Given the description of an element on the screen output the (x, y) to click on. 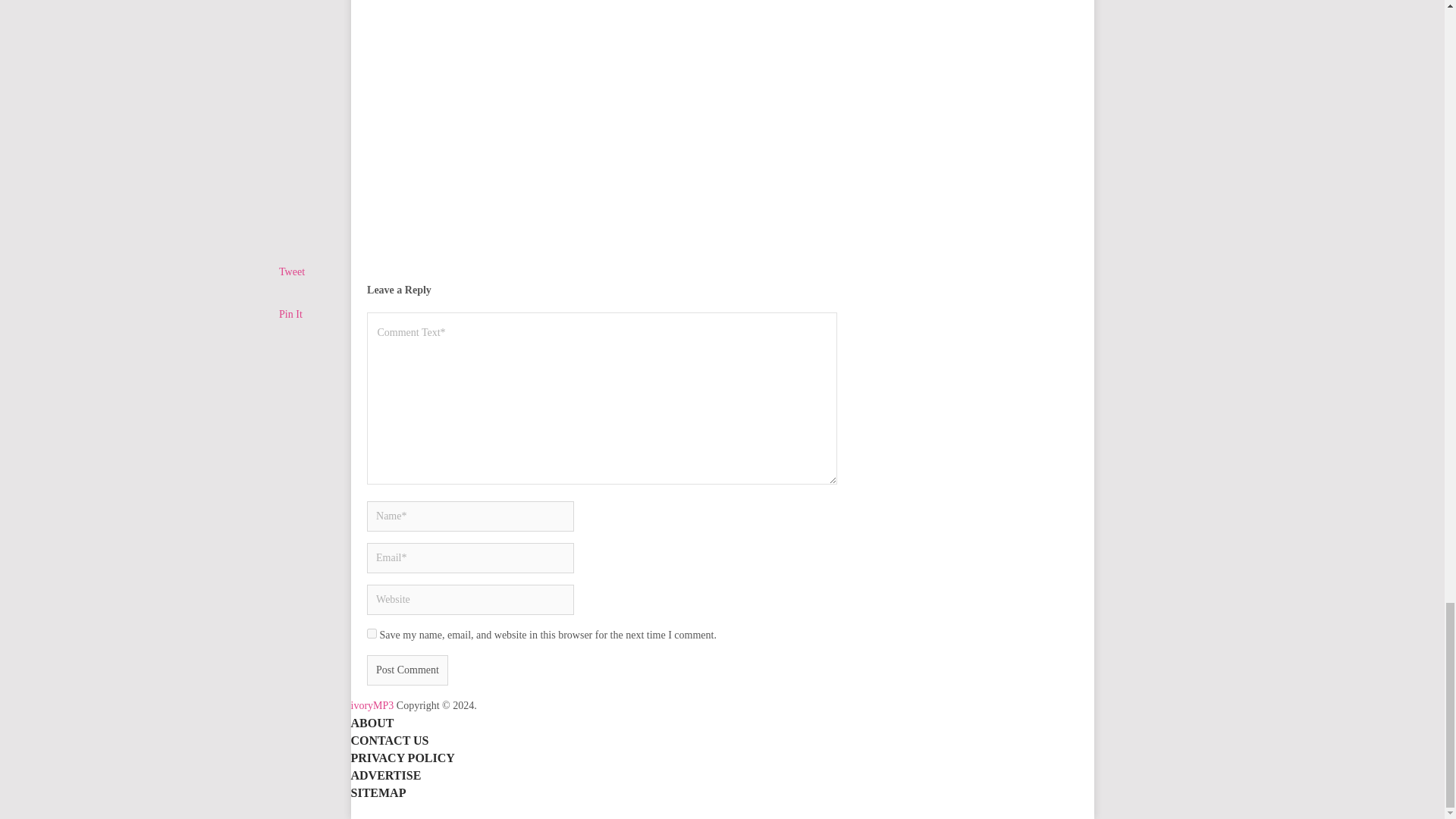
yes (371, 633)
Post Comment (407, 670)
